Given the description of an element on the screen output the (x, y) to click on. 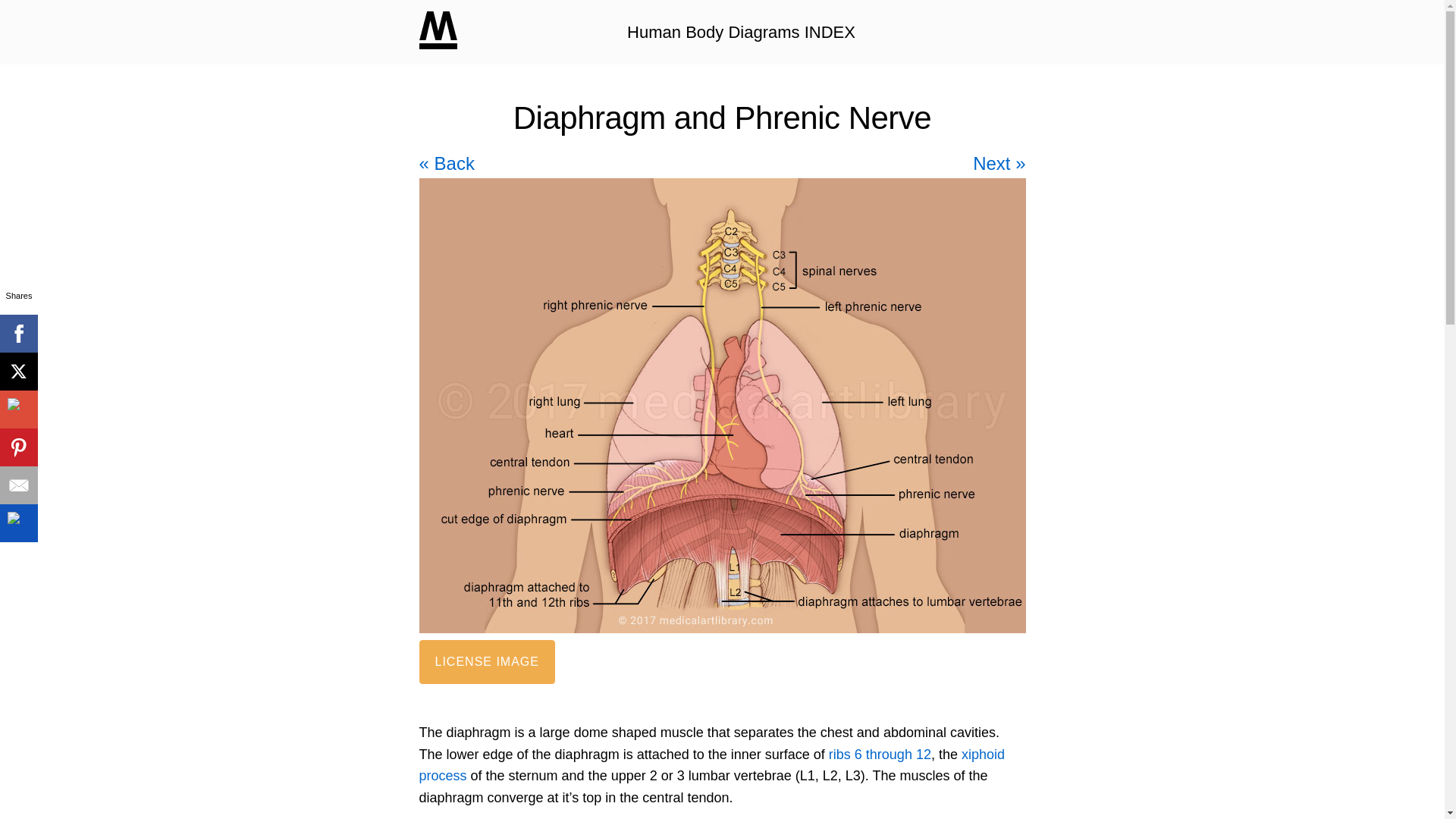
LICENSE IMAGE (486, 661)
Human Body Diagrams INDEX (741, 32)
xiphoid process (711, 764)
About Us (675, 757)
MEDICAL ART LIBRARY (438, 30)
Facebook (18, 333)
Facebook (474, 757)
Pinterest (18, 447)
X (18, 371)
ribs 6 through 12 (879, 754)
